Given the description of an element on the screen output the (x, y) to click on. 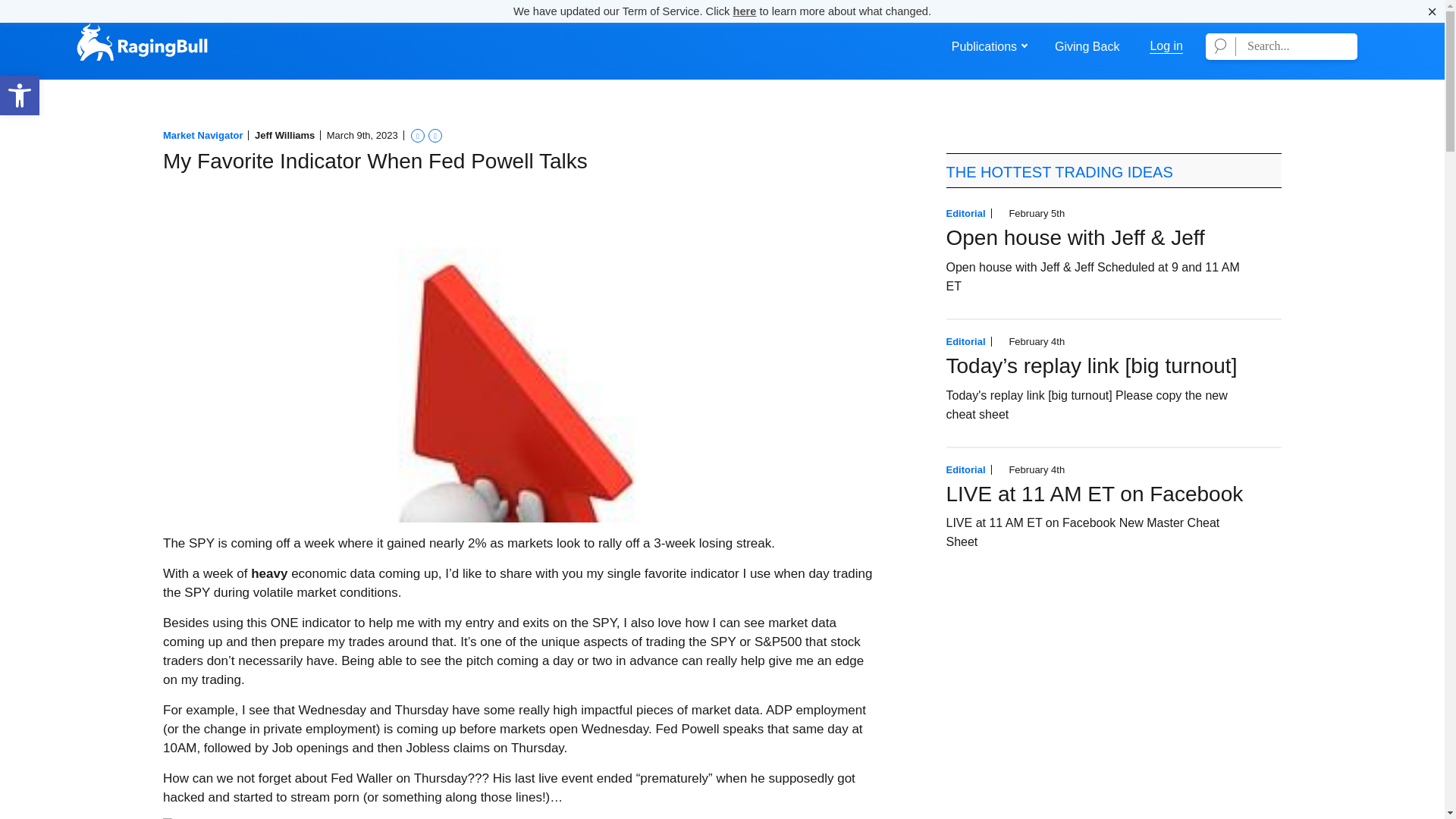
Accessibility Tools (19, 95)
Publications (984, 46)
Jeff Williams (284, 135)
Giving Back (1086, 46)
My Favorite Indicator When Fed Powell Talks (375, 160)
Accessibility Tools (19, 95)
Log in (1166, 46)
Market Navigator (19, 95)
